Given the description of an element on the screen output the (x, y) to click on. 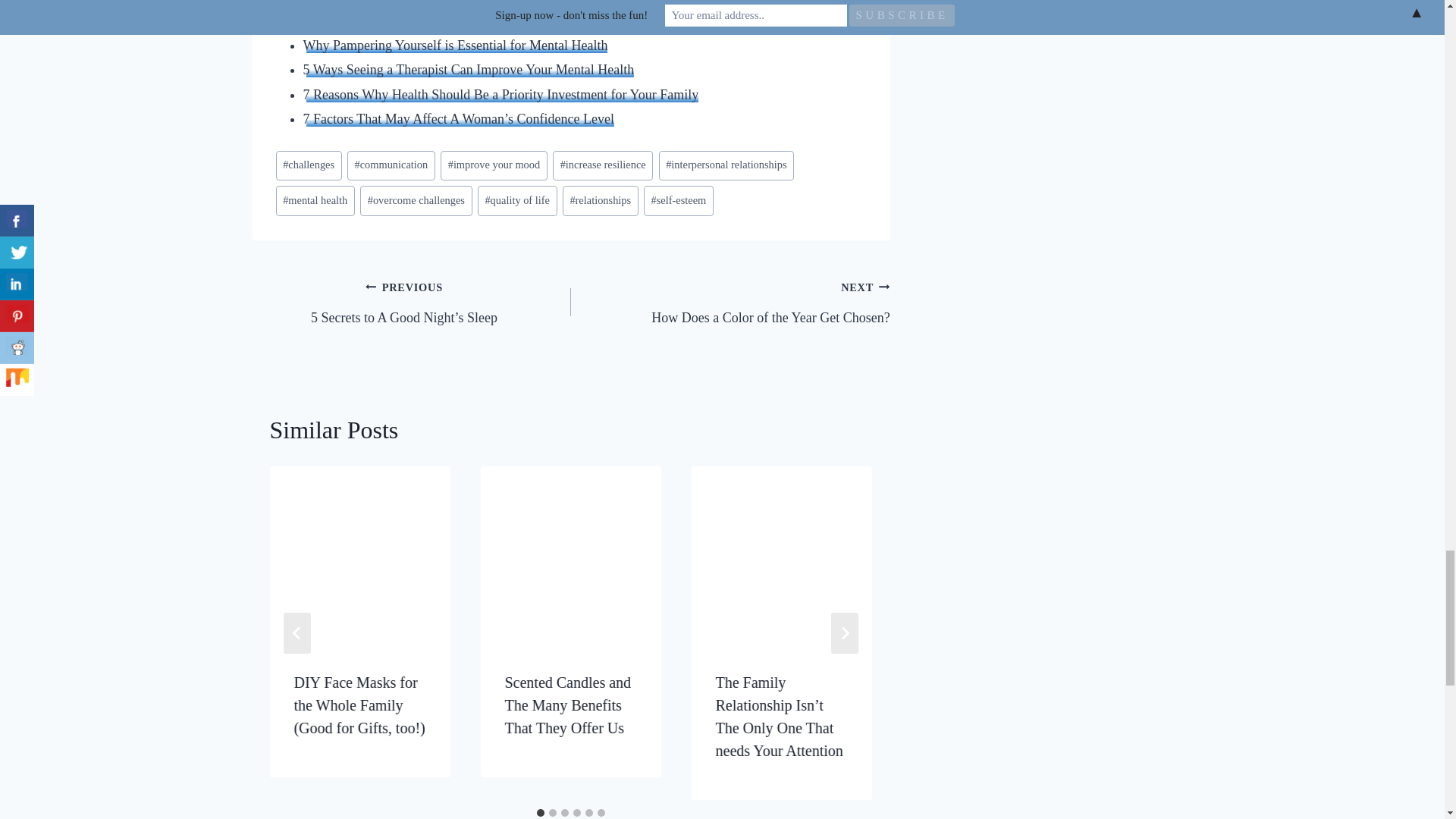
improve your mood (494, 165)
increase resilience (602, 165)
Why Pampering Yourself is Essential for Mental Health (455, 45)
Dealing With Anxiety and Depression: Why Therapy Is a Must (474, 20)
mental health (315, 200)
5 Ways Seeing a Therapist Can Improve Your Mental Health (468, 69)
interpersonal relationships (726, 165)
quality of life (517, 200)
relationships (600, 200)
challenges (309, 165)
self-esteem (678, 200)
overcome challenges (415, 200)
communication (391, 165)
